Given the description of an element on the screen output the (x, y) to click on. 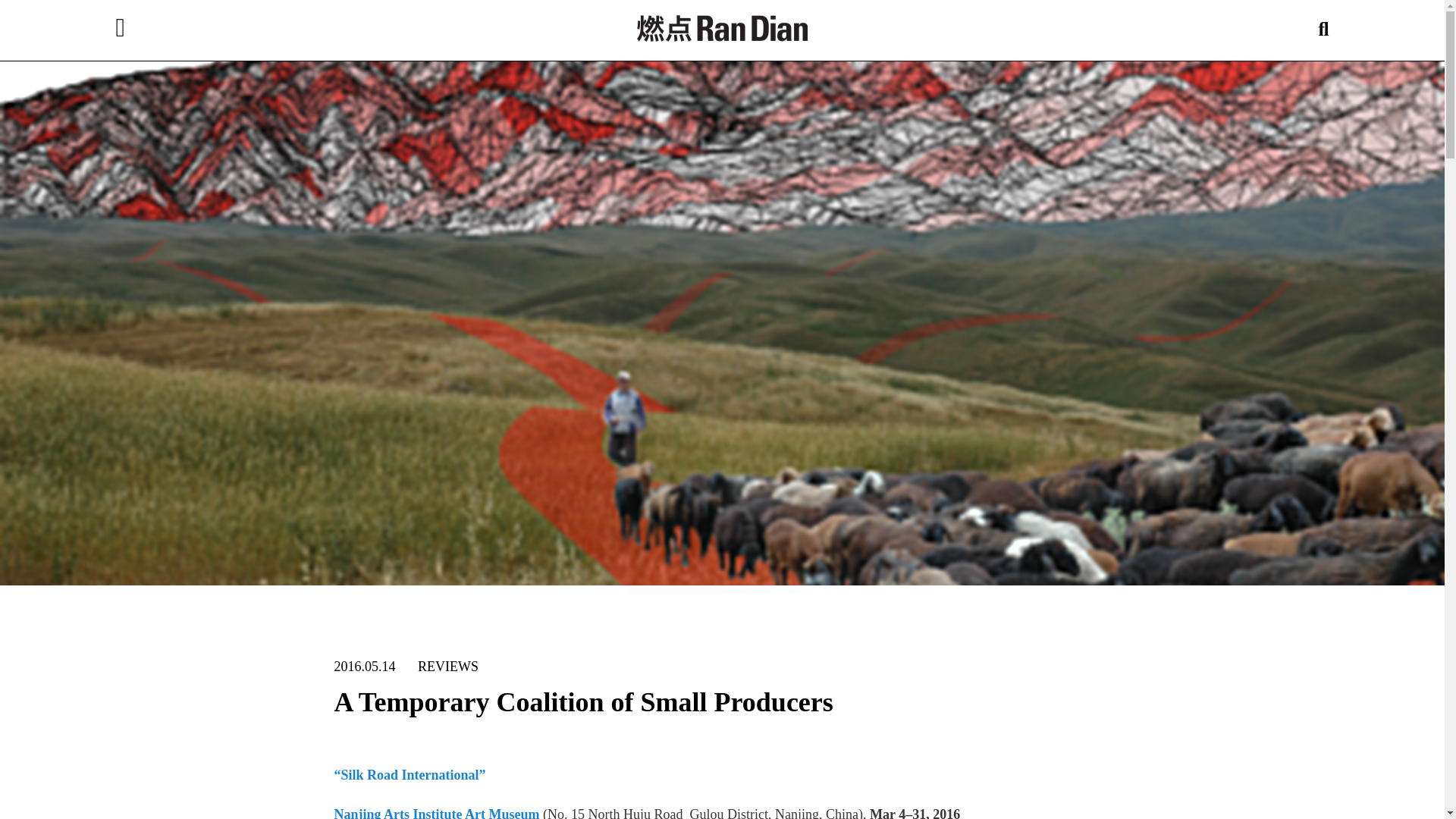
Nanjing Arts Institute Art Museum (435, 812)
6:03 pm (363, 666)
2016.05.14 (363, 666)
